Given the description of an element on the screen output the (x, y) to click on. 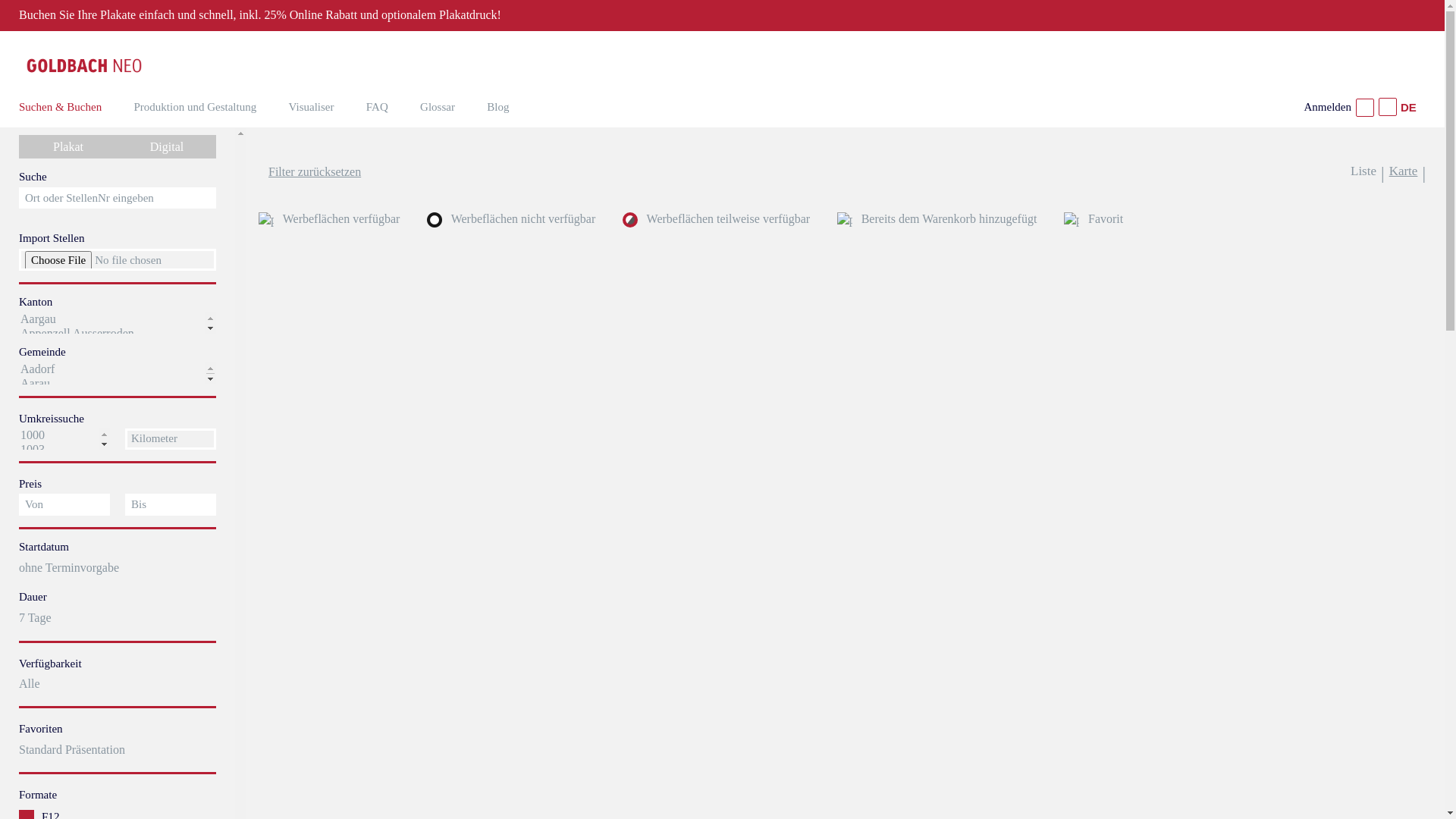
Glossar Element type: text (437, 106)
Anmelden Element type: text (1339, 109)
FAQ Element type: text (377, 106)
Visualiser Element type: text (311, 106)
Blog Element type: text (497, 106)
Suchen & Buchen Element type: text (59, 106)
Produktion und Gestaltung Element type: text (195, 106)
